Given the description of an element on the screen output the (x, y) to click on. 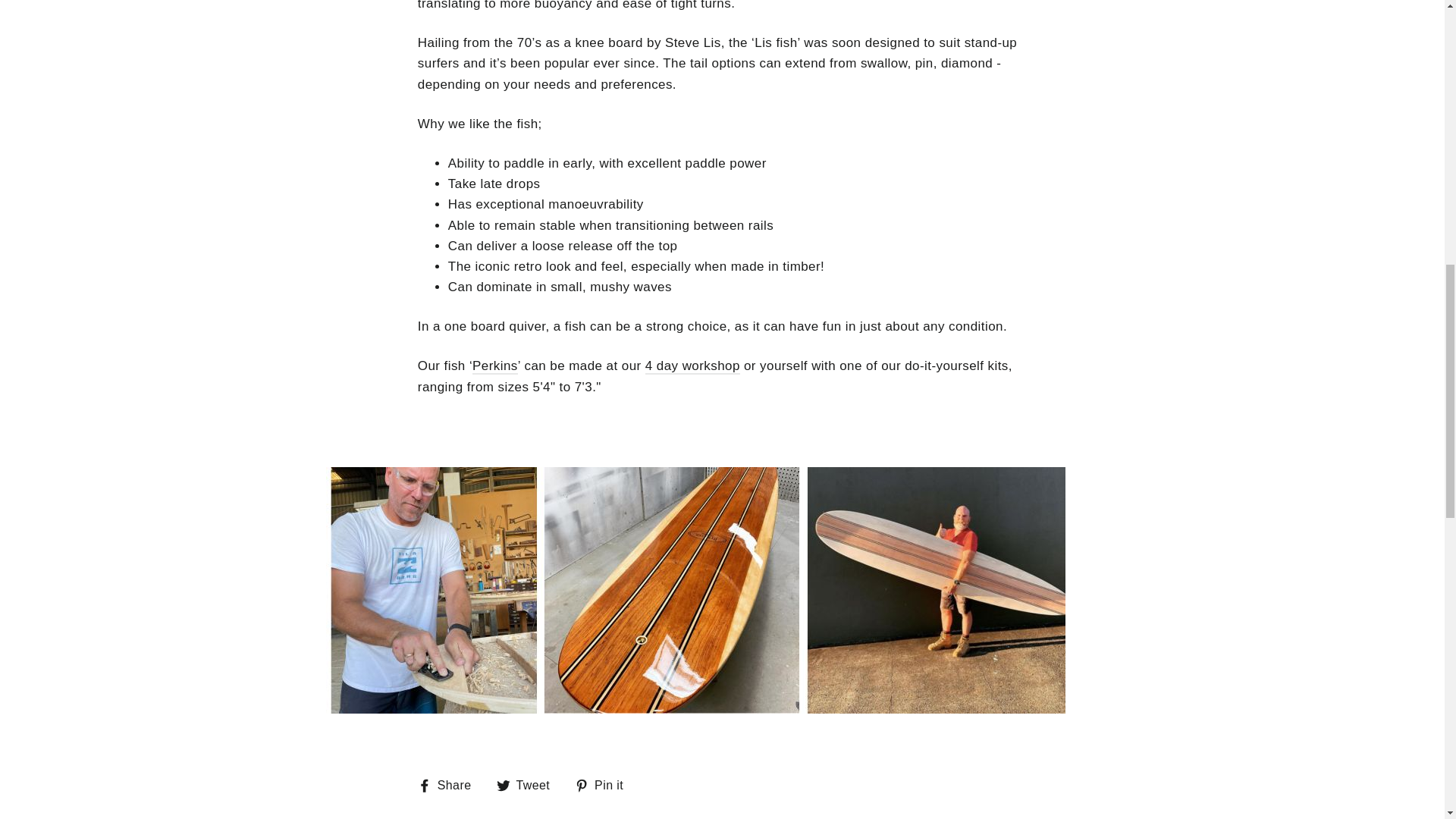
Tweet on Twitter (529, 784)
Pin on Pinterest (604, 784)
Share on Facebook (450, 784)
